Given the description of an element on the screen output the (x, y) to click on. 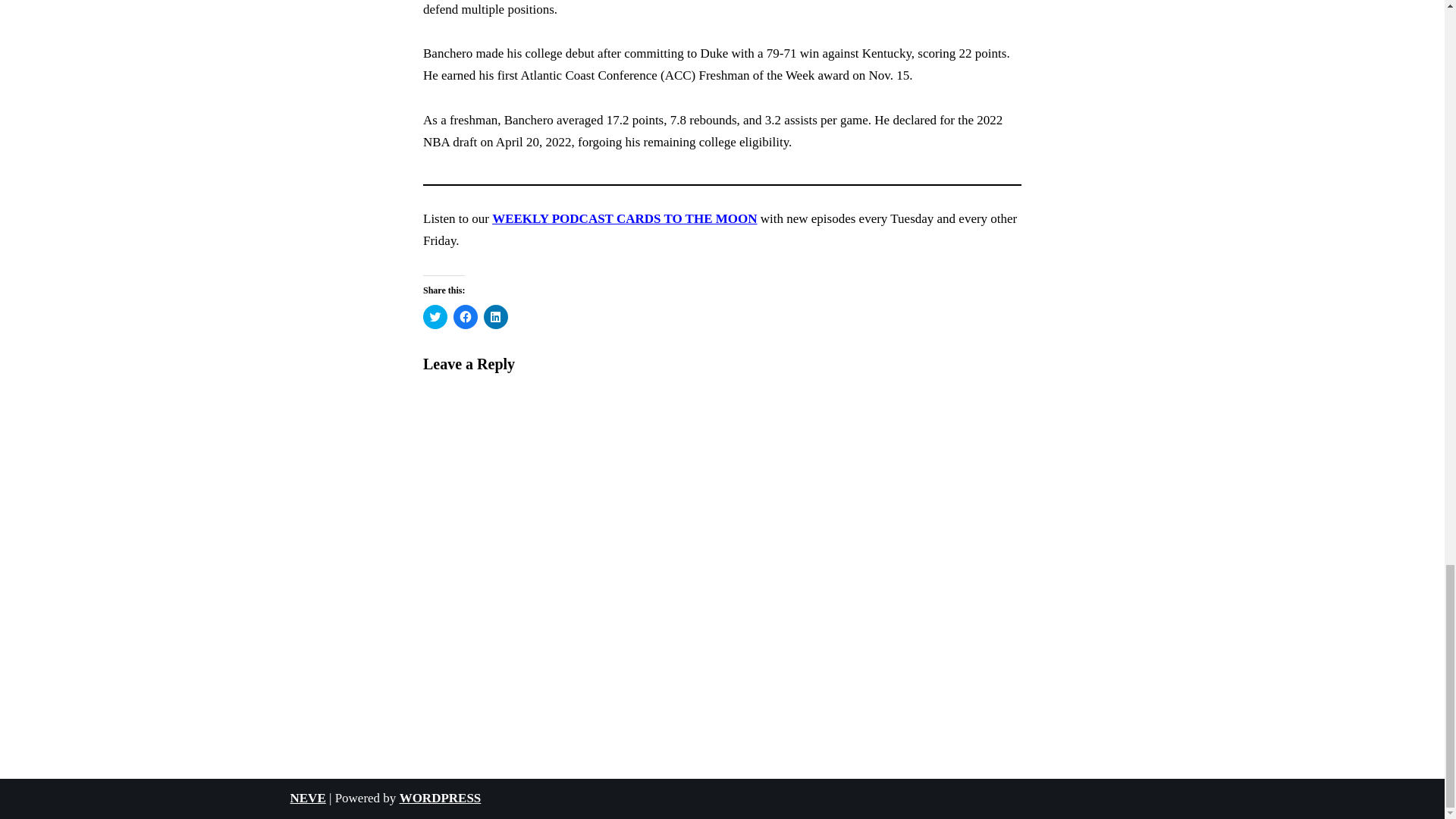
Click to share on LinkedIn (495, 316)
NEVE (306, 798)
Click to share on Facebook (464, 316)
WEEKLY PODCAST CARDS TO THE MOON (624, 218)
WORDPRESS (439, 798)
Click to share on Twitter (434, 316)
